Given the description of an element on the screen output the (x, y) to click on. 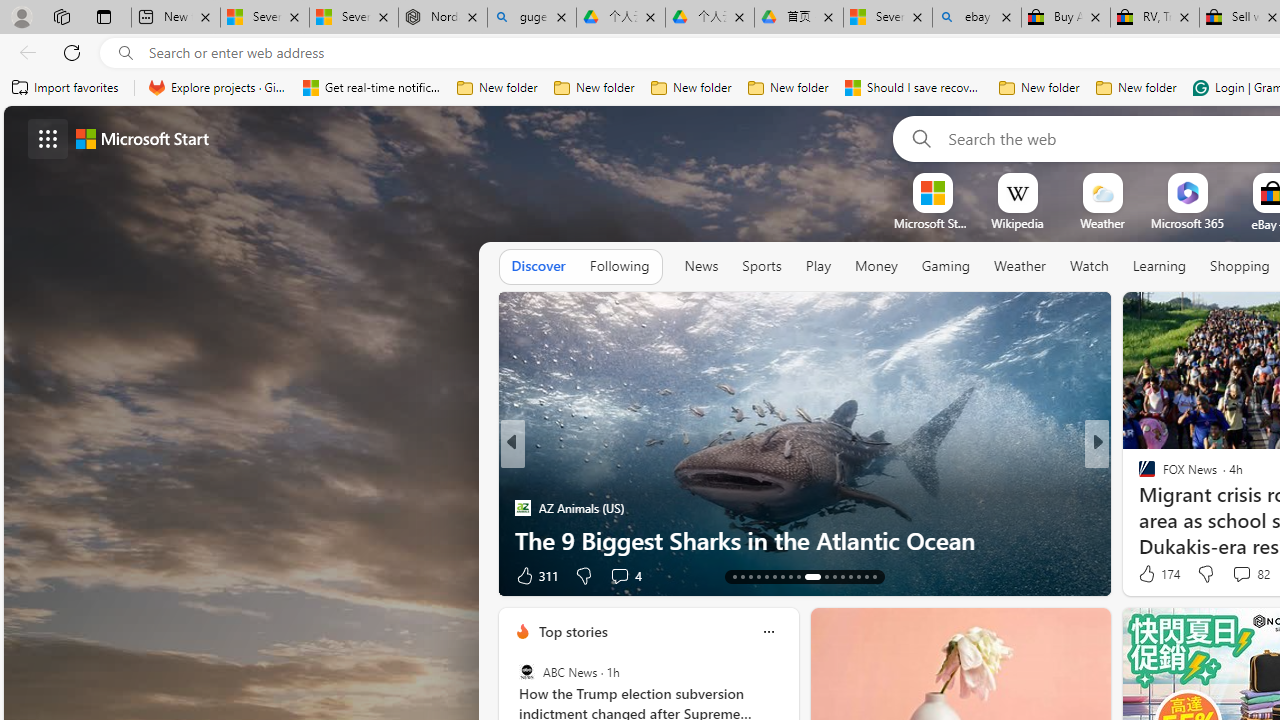
Learning (1159, 267)
View comments 4 Comment (619, 575)
ABC News (526, 672)
The Manual (1138, 475)
More options (768, 631)
AutomationID: tab-22 (812, 576)
guge yunpan - Search (531, 17)
Dislike (1204, 574)
View comments 2 Comment (1229, 575)
Discover (538, 265)
Learning (1159, 265)
AutomationID: tab-21 (797, 576)
Sports (761, 265)
